Given the description of an element on the screen output the (x, y) to click on. 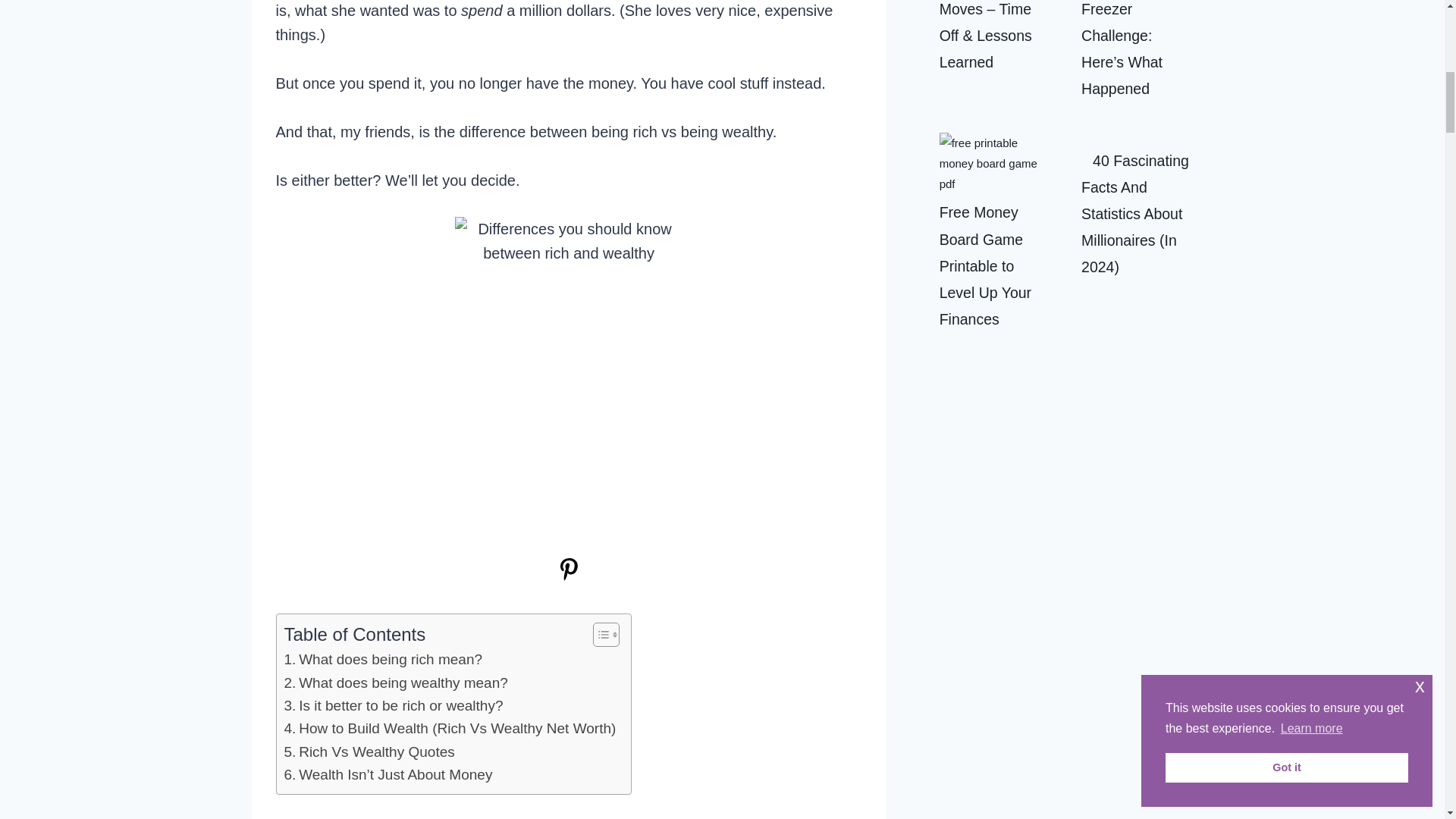
What does being wealthy mean? (394, 682)
Rich Vs Wealthy Quotes (368, 752)
What does being rich mean? (382, 659)
Is it better to be rich or wealthy? (392, 705)
What does being wealthy mean? (394, 682)
Is it better to be rich or wealthy? (392, 705)
What does being rich mean? (382, 659)
Rich Vs Wealthy Quotes (368, 752)
